Given the description of an element on the screen output the (x, y) to click on. 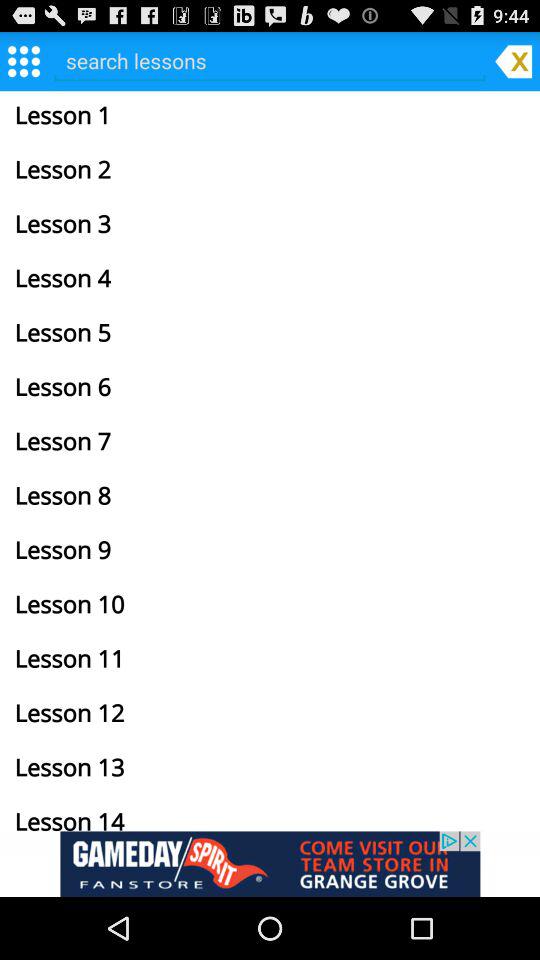
close/return the page (513, 60)
